Given the description of an element on the screen output the (x, y) to click on. 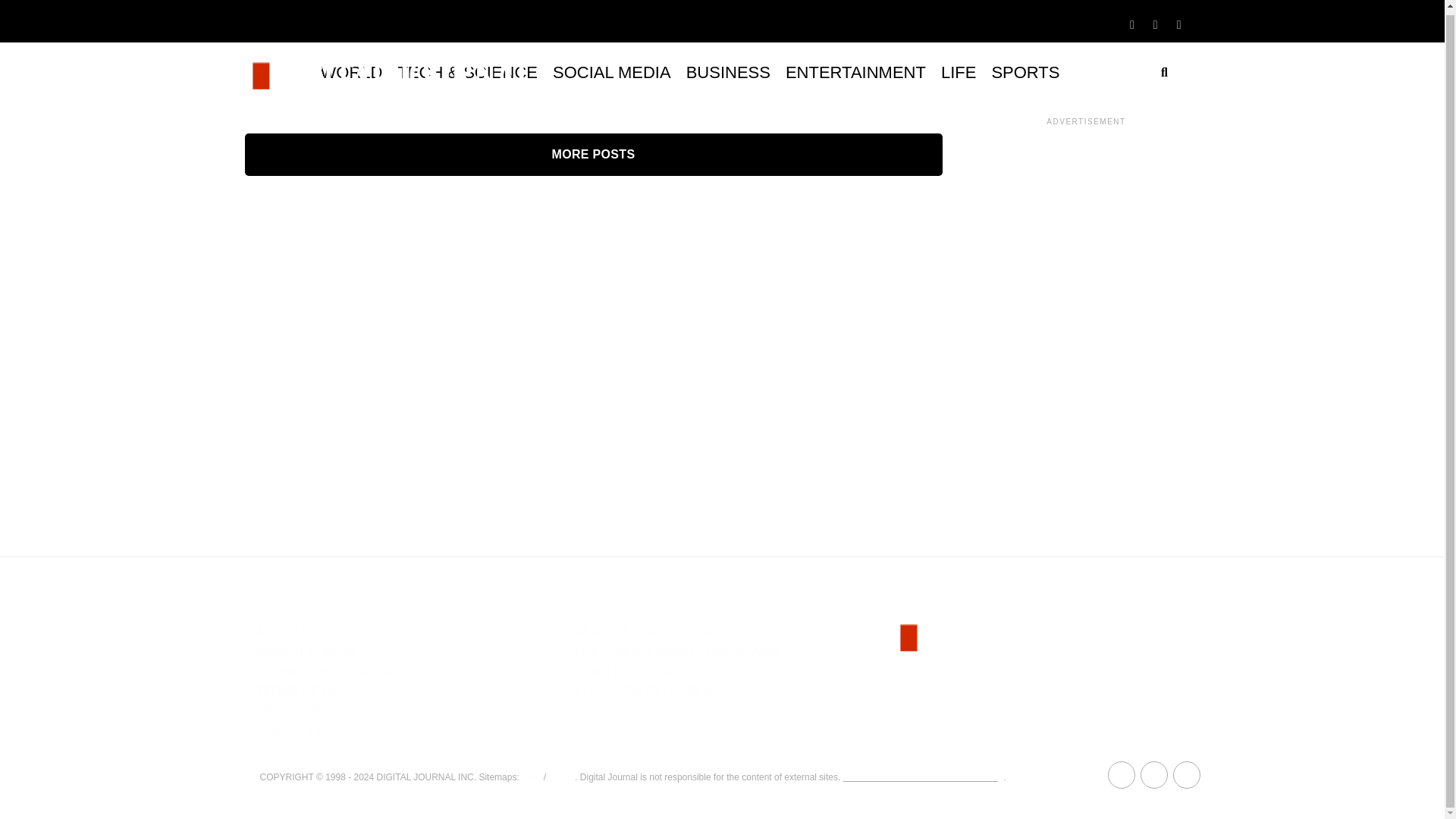
SOCIAL MEDIA (611, 72)
SPONSORED CONTENT (326, 671)
ALL PRESS RELEASES (641, 690)
ABOUT US (288, 631)
Read more about our external linking (923, 776)
News (560, 776)
PRIVACY POLICY (307, 710)
BUSINESS (727, 72)
TERMS OF USE (301, 690)
SPORTS (1025, 72)
